Given the description of an element on the screen output the (x, y) to click on. 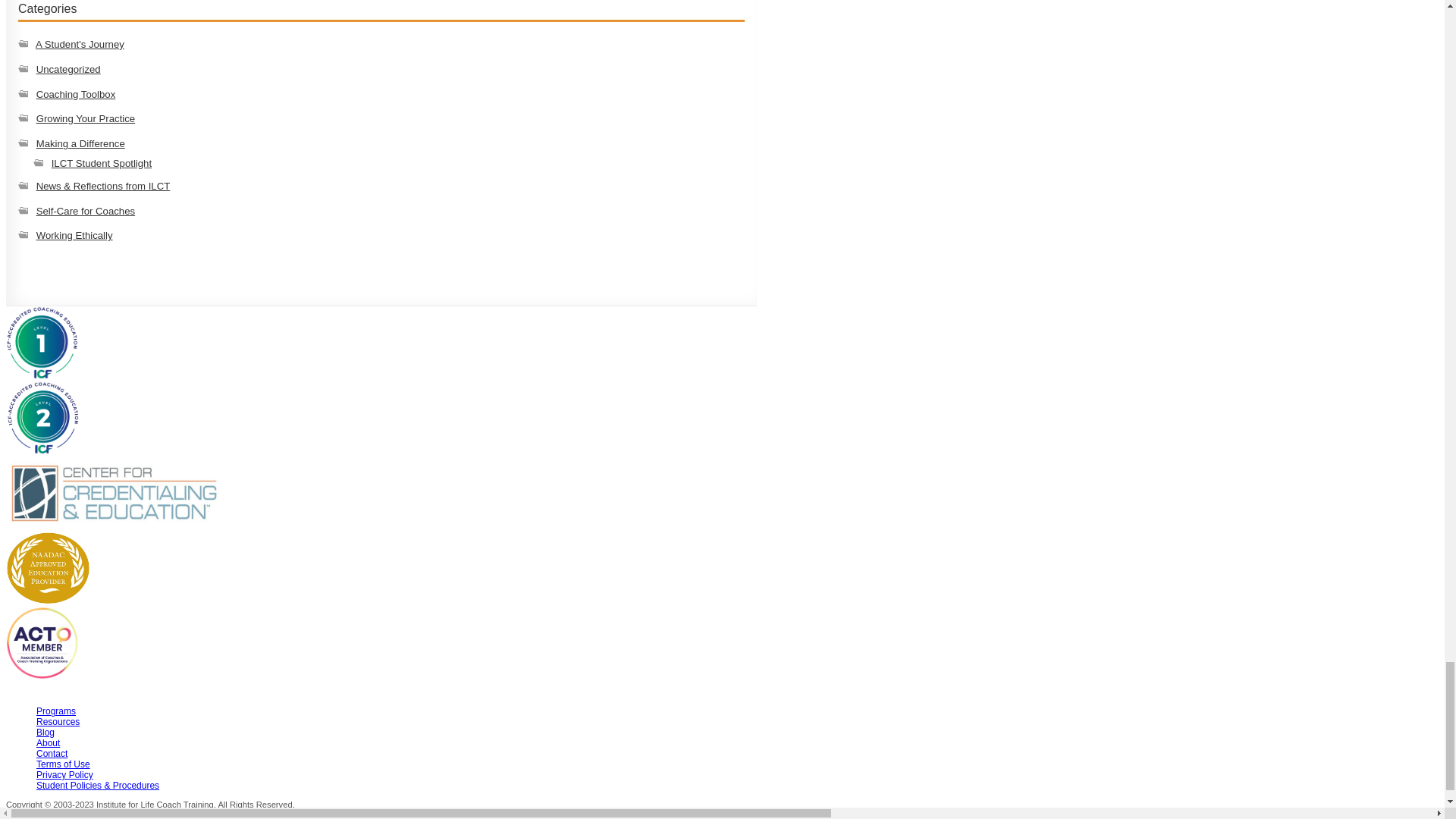
Contact (51, 753)
Coaching Toolbox (76, 93)
Blog (45, 732)
Programs (55, 710)
About (47, 742)
Terms of Use (63, 764)
Working Ethically (74, 235)
Uncategorized (68, 69)
Self-Care for Coaches (85, 211)
Growing Your Practice (85, 118)
Resources (58, 721)
ILCT Student Spotlight (100, 163)
A Student's Journey (78, 43)
Privacy Policy (64, 774)
Making a Difference (80, 143)
